Given the description of an element on the screen output the (x, y) to click on. 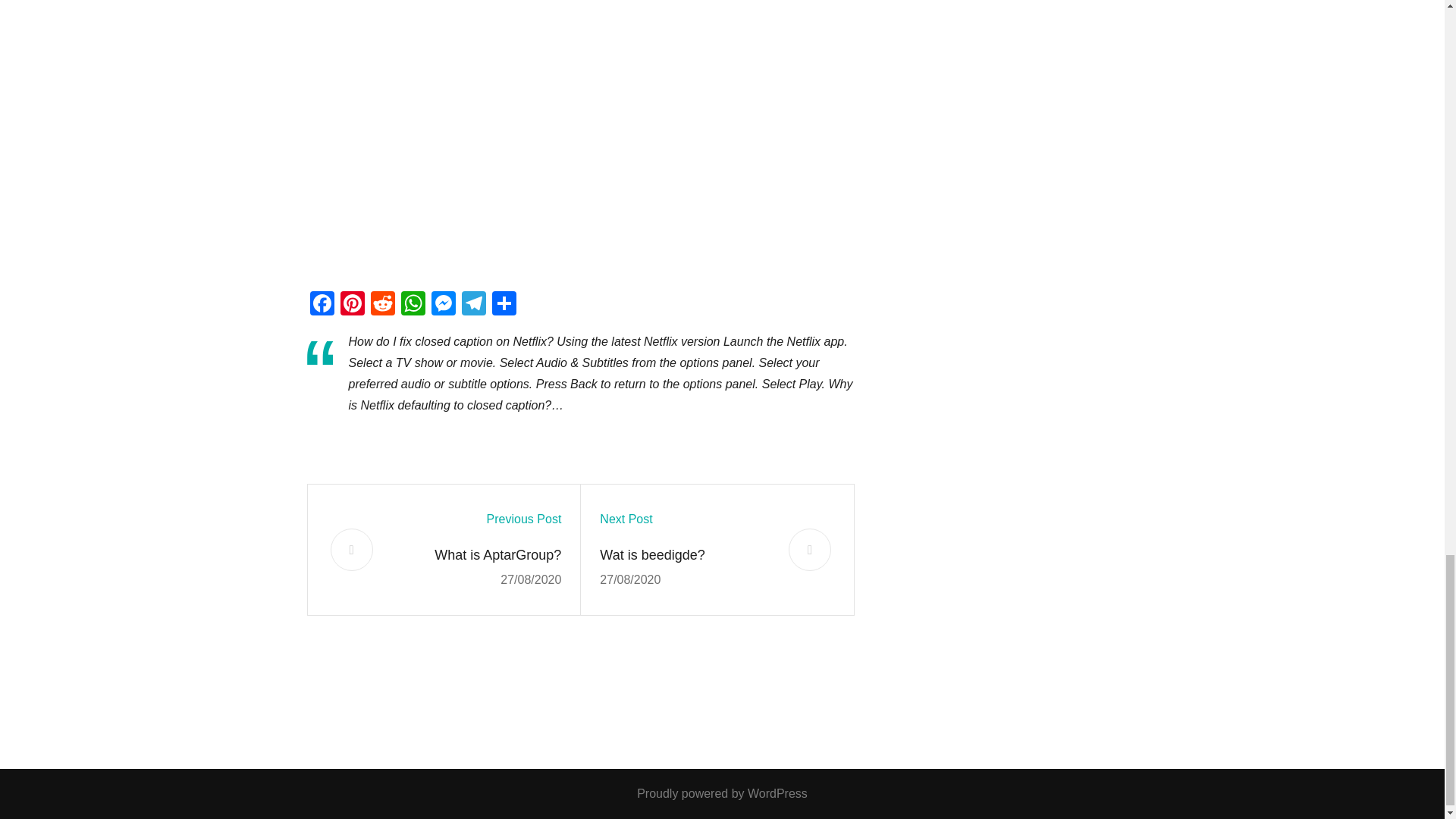
Reddit (381, 305)
Facebook (320, 305)
Messenger (443, 305)
WhatsApp (412, 305)
Telegram (472, 305)
Pinterest (351, 305)
Reddit (381, 305)
Messenger (443, 305)
Wat is beedigde? (684, 554)
Telegram (472, 305)
